Given the description of an element on the screen output the (x, y) to click on. 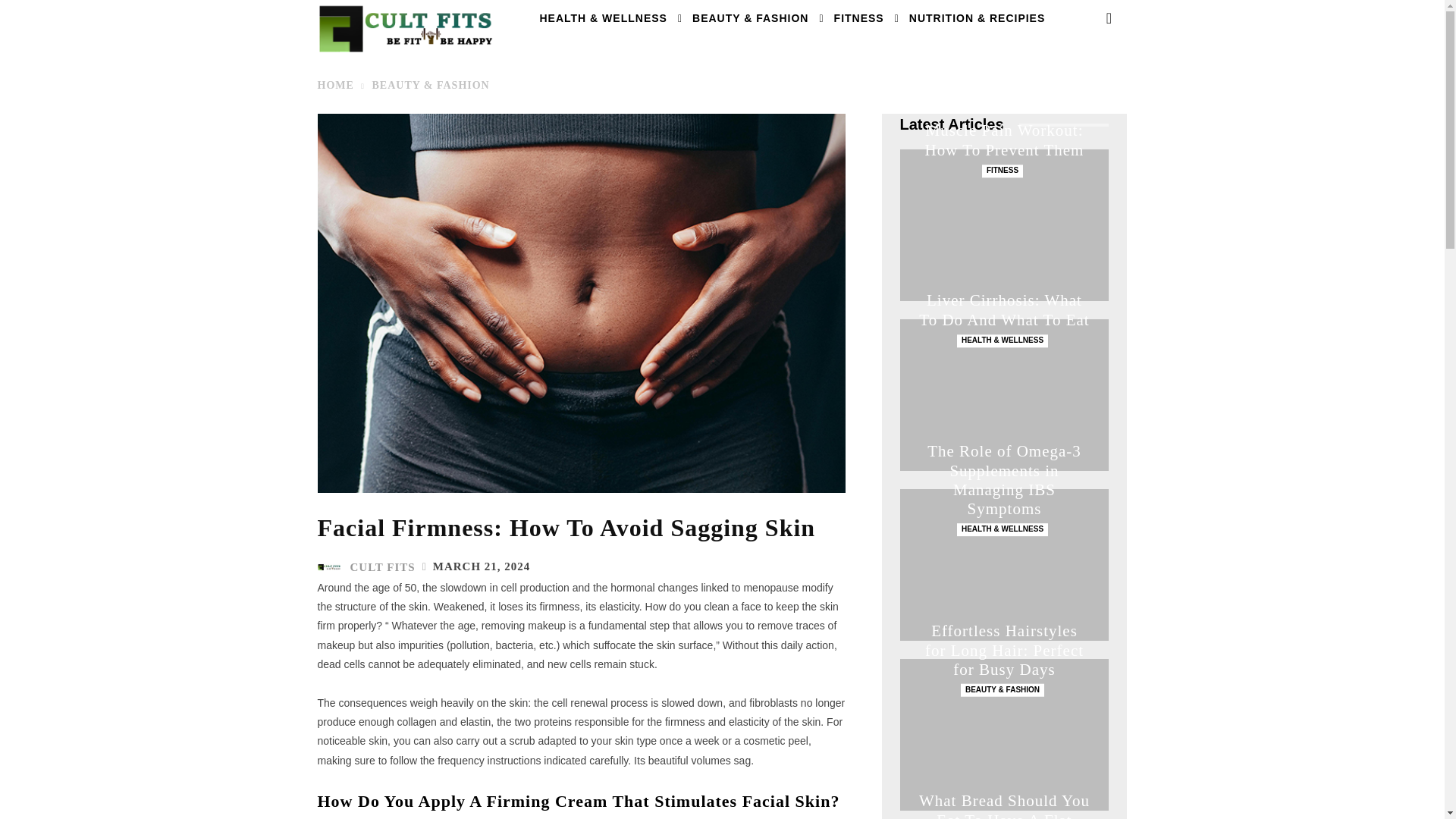
FITNESS (859, 18)
Muscle Pain Workout: How To Prevent Them (1004, 140)
Liver Cirrhosis: What To Do And What To Eat (1003, 310)
Muscle Pain Workout: How To Prevent Them (1003, 225)
Liver Cirrhosis: What To Do And What To Eat (1003, 394)
